Given the description of an element on the screen output the (x, y) to click on. 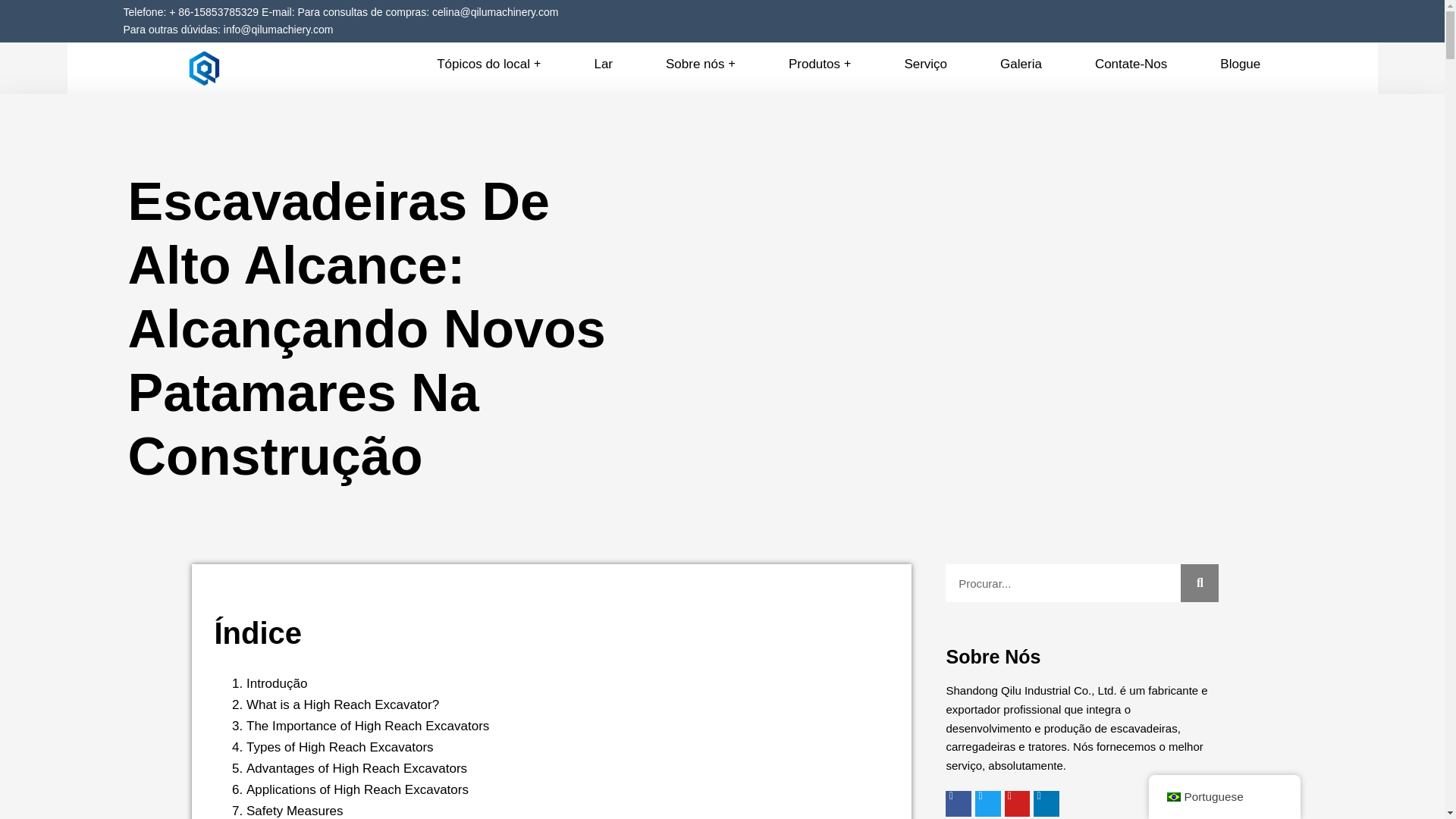
Portuguese (1172, 796)
Lar (603, 63)
Blogue (1240, 63)
Produtos (819, 63)
Galeria (1020, 63)
Contate-Nos (1130, 63)
